Given the description of an element on the screen output the (x, y) to click on. 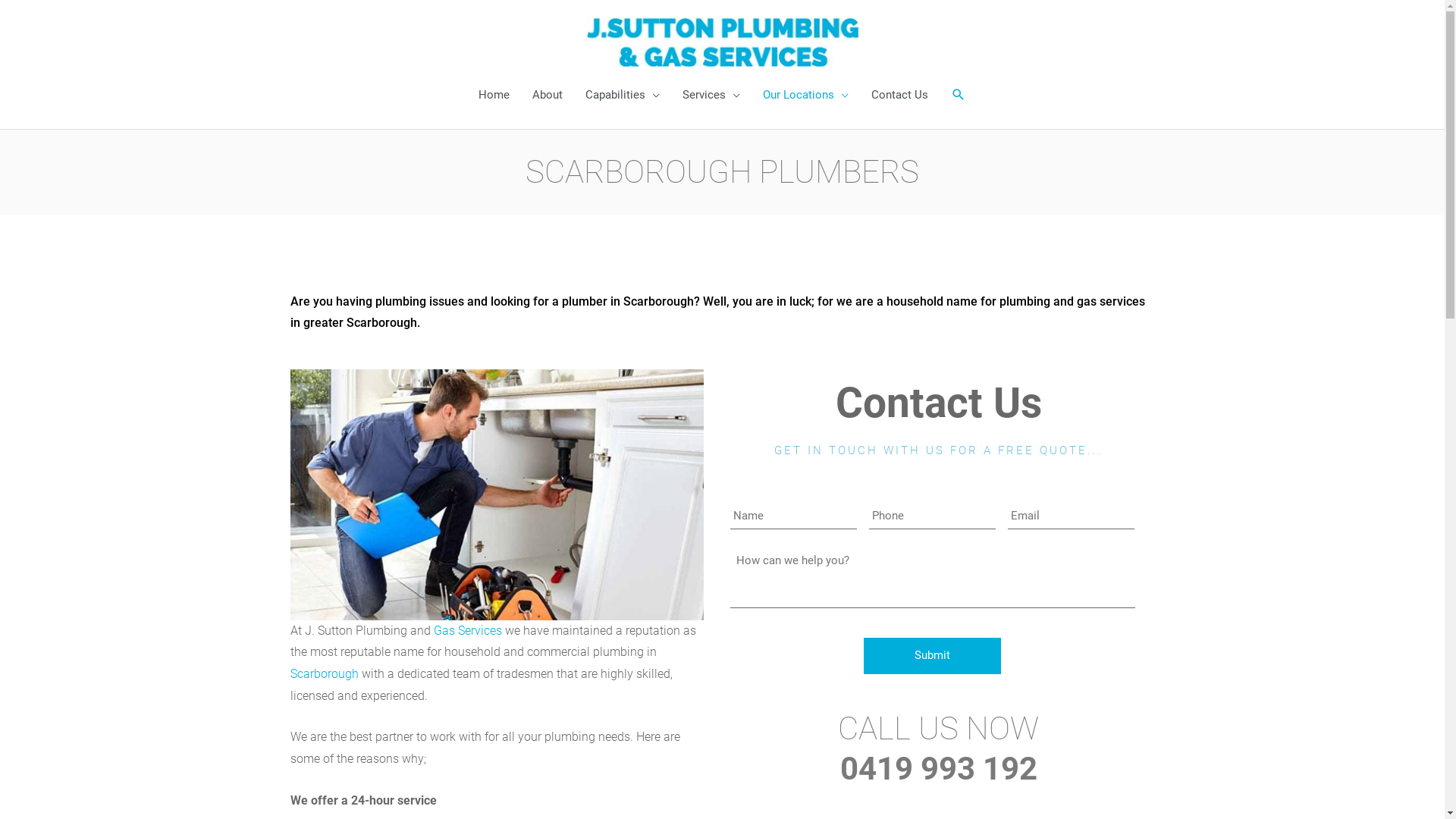
CALL US NOW
0419 993 192 Element type: text (937, 748)
Services Element type: text (711, 94)
Submit Element type: text (932, 655)
Scarborough Element type: text (323, 673)
Our Locations Element type: text (805, 94)
Contact Us Element type: text (899, 94)
Capabilities Element type: text (622, 94)
Gas Services Element type: text (467, 630)
About Element type: text (547, 94)
Search Element type: text (958, 94)
Home Element type: text (493, 94)
